Given the description of an element on the screen output the (x, y) to click on. 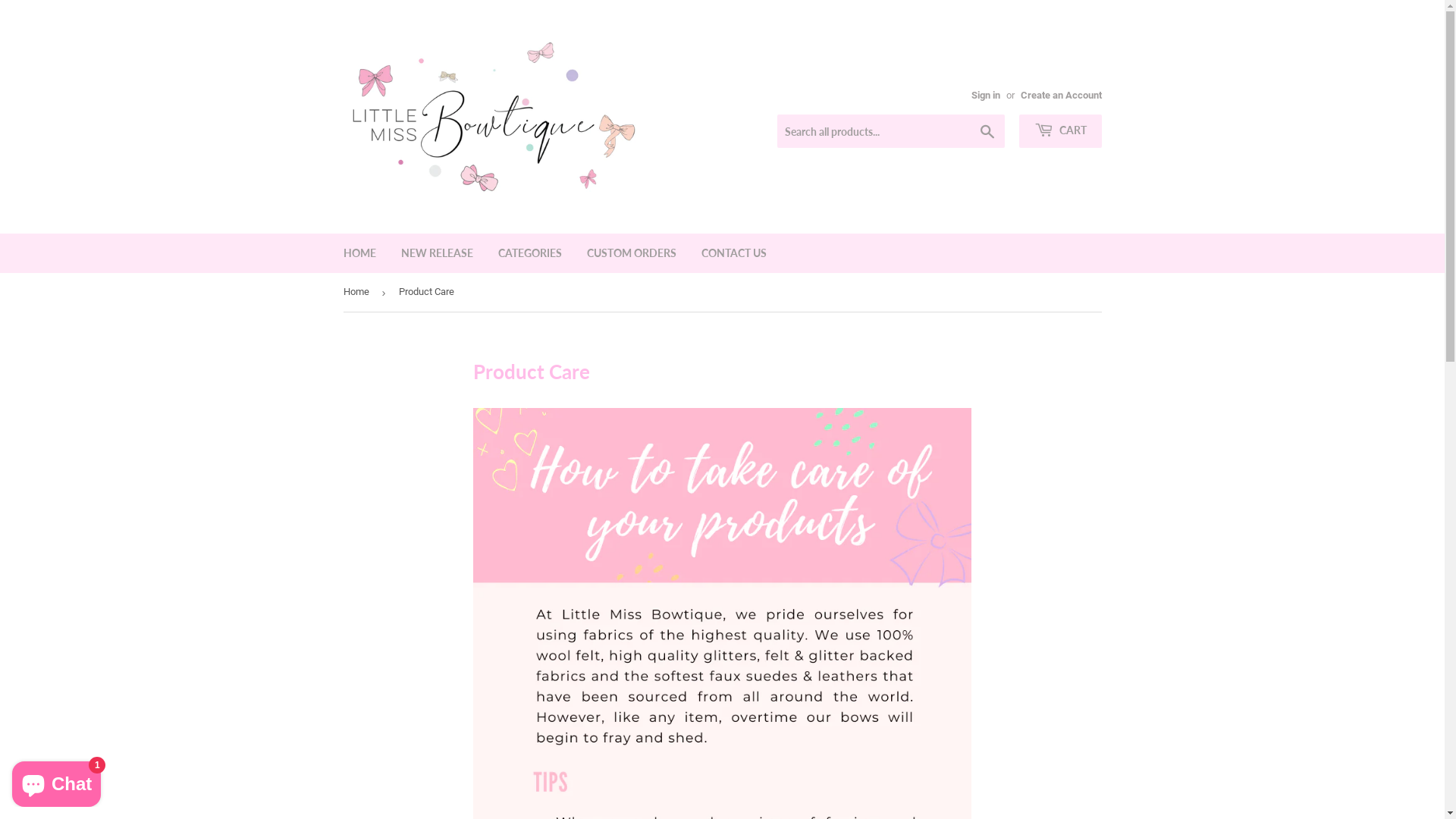
CART Element type: text (1060, 130)
CUSTOM ORDERS Element type: text (630, 253)
CATEGORIES Element type: text (529, 253)
HOME Element type: text (359, 253)
NEW RELEASE Element type: text (436, 253)
CONTACT US Element type: text (734, 253)
Create an Account Element type: text (1060, 94)
Sign in Element type: text (984, 94)
Search Element type: text (987, 131)
Home Element type: text (357, 292)
Shopify online store chat Element type: hover (56, 780)
